Given the description of an element on the screen output the (x, y) to click on. 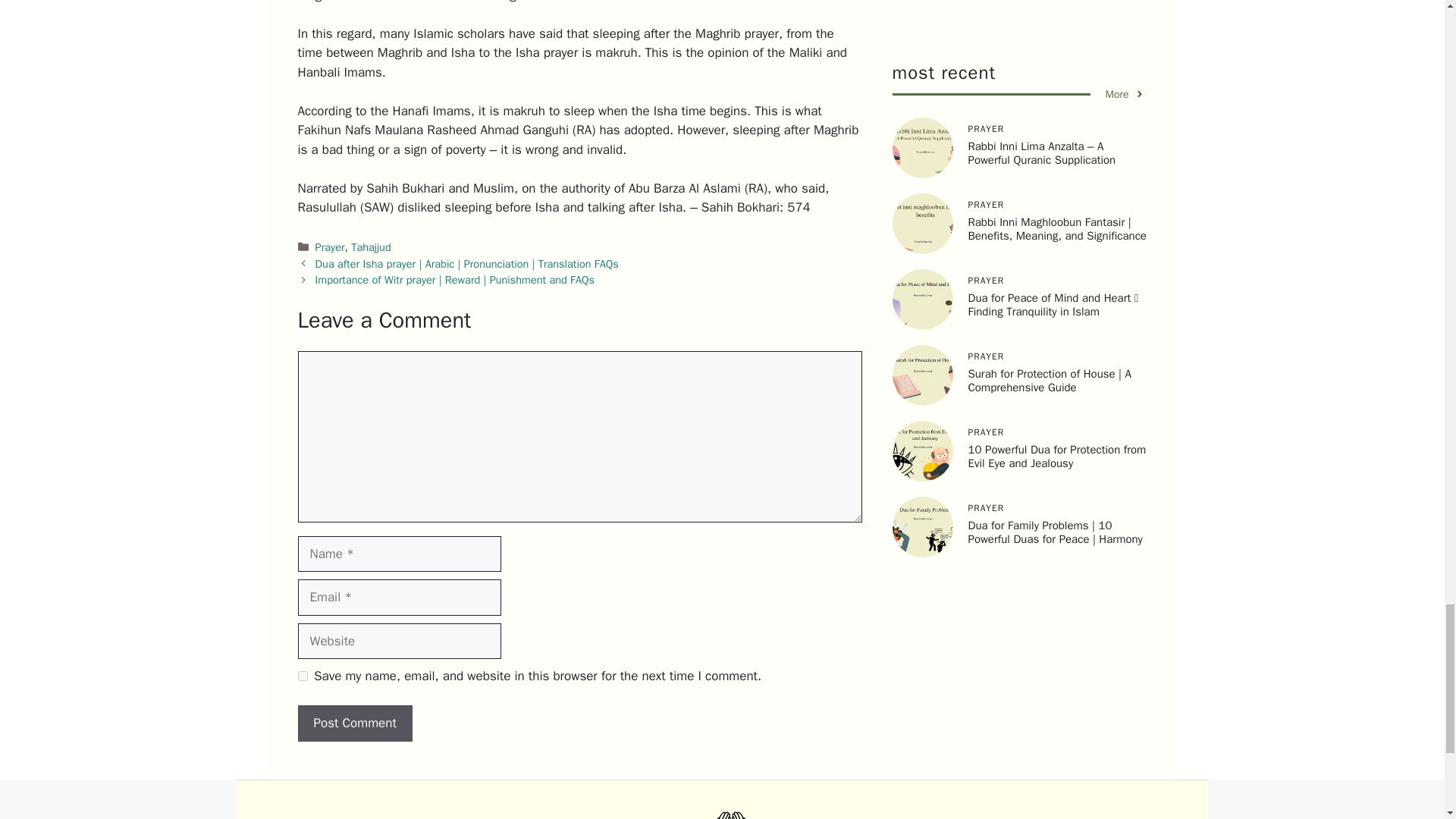
Tahajjud (370, 246)
Post Comment (354, 723)
Post Comment (354, 723)
yes (302, 675)
Prayer (330, 246)
